Given the description of an element on the screen output the (x, y) to click on. 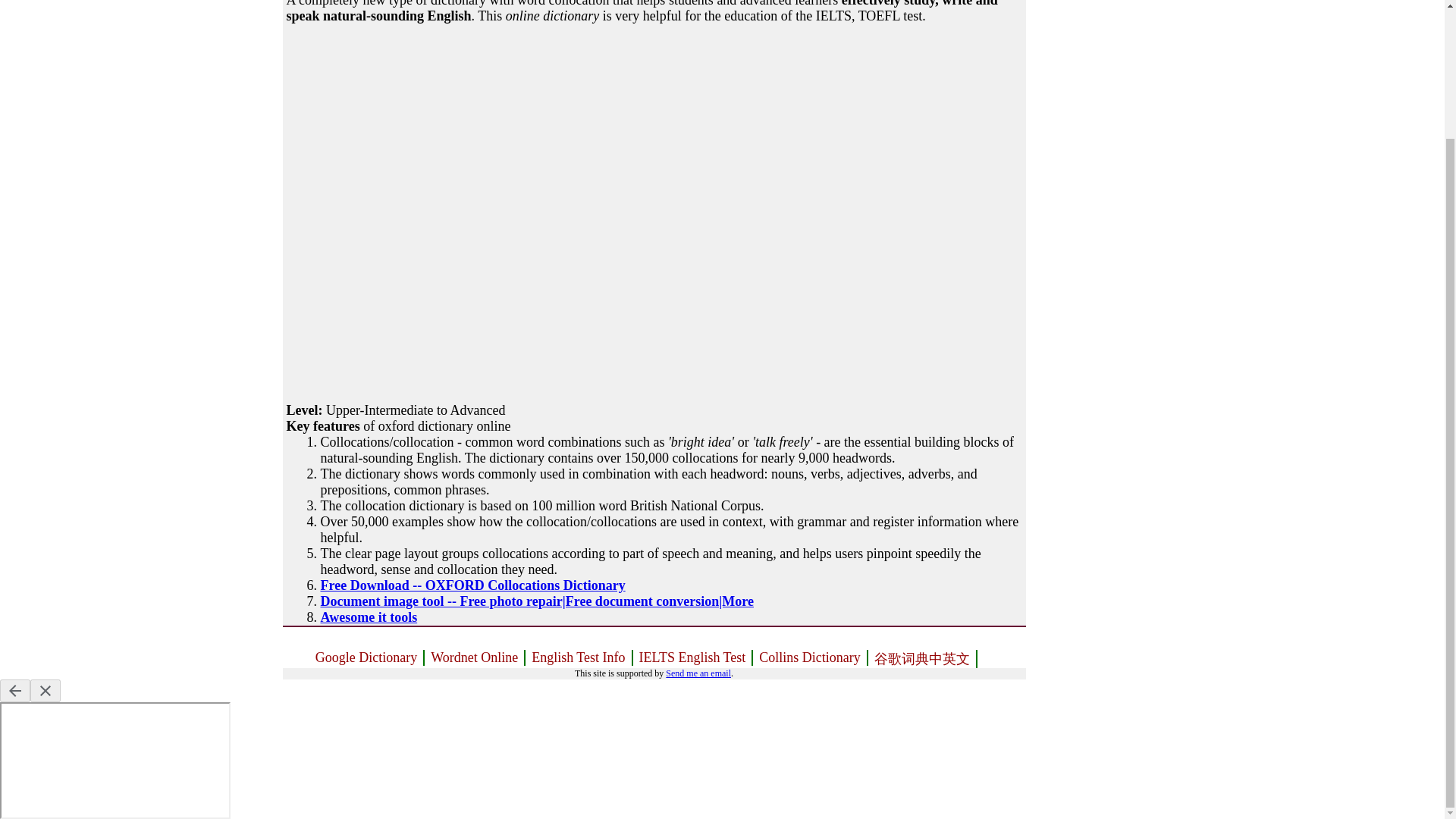
Free Download -- OXFORD Collocations Dictionary (472, 585)
Advertisement (395, 307)
Collins Dictionary (809, 657)
English Test Info (578, 657)
Google Dictionary (366, 657)
IELTS English Test (693, 657)
Send me an email (697, 673)
Awesome it tools (368, 616)
Wordnet Online (475, 657)
